Given the description of an element on the screen output the (x, y) to click on. 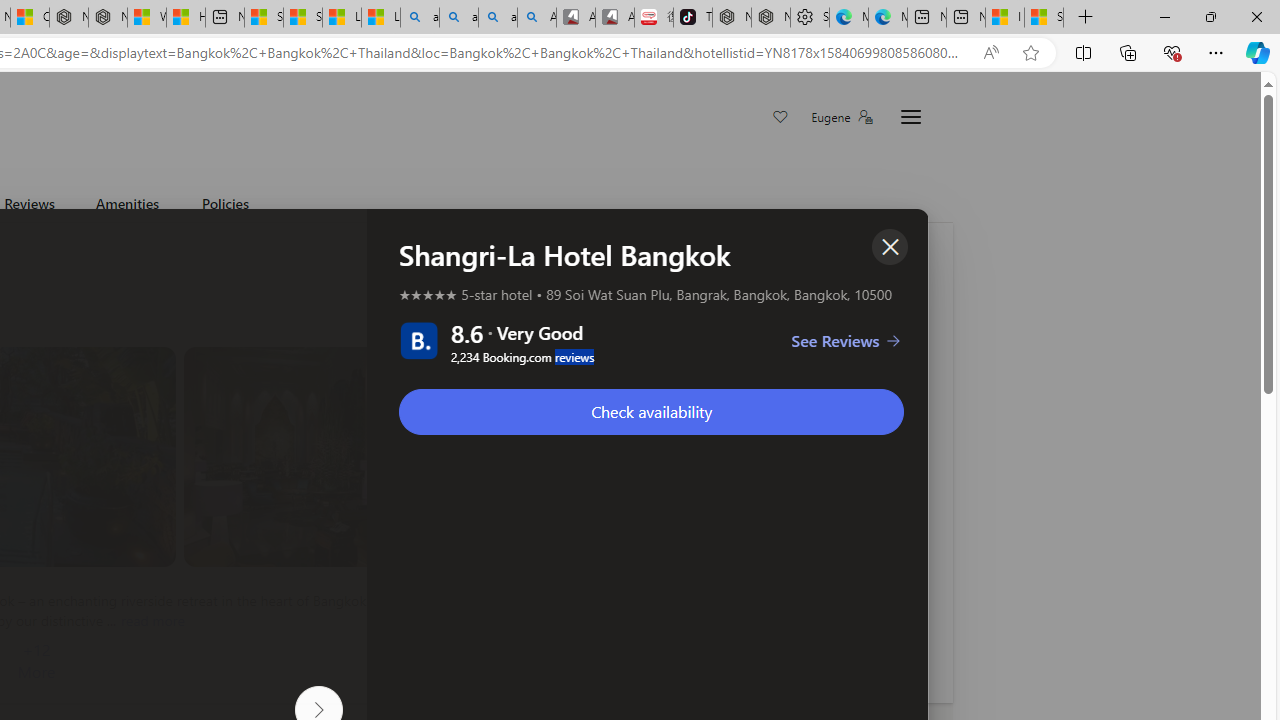
Settings (810, 17)
All Cubot phones (614, 17)
amazon - Search Images (497, 17)
Amazon Echo Robot - Search Images (536, 17)
Nordace Siena Pro 15 Backpack (770, 17)
